Given the description of an element on the screen output the (x, y) to click on. 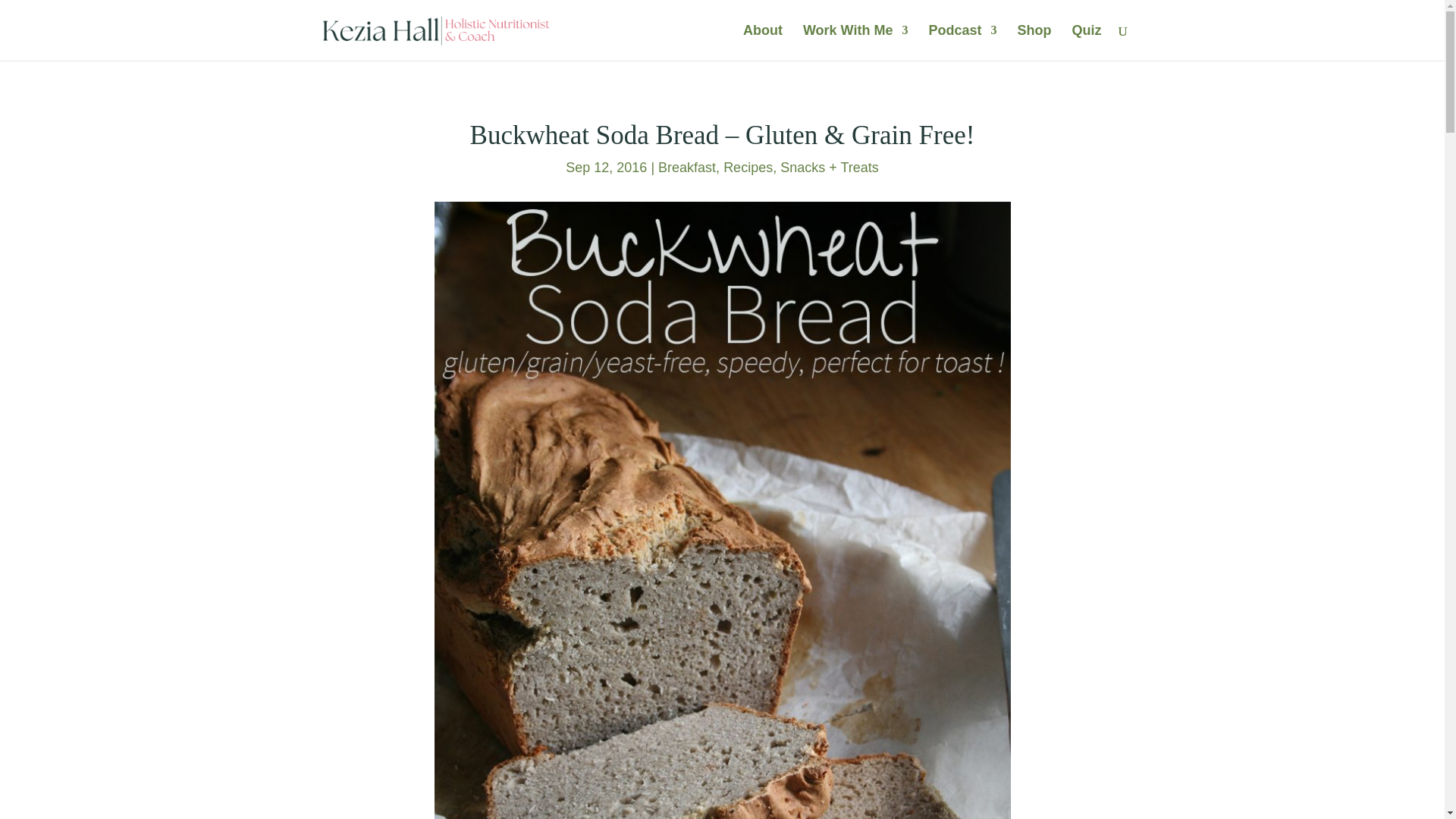
Podcast (961, 42)
Shop (1033, 42)
Work With Me (855, 42)
About (762, 42)
Breakfast (687, 167)
Recipes (748, 167)
